Given the description of an element on the screen output the (x, y) to click on. 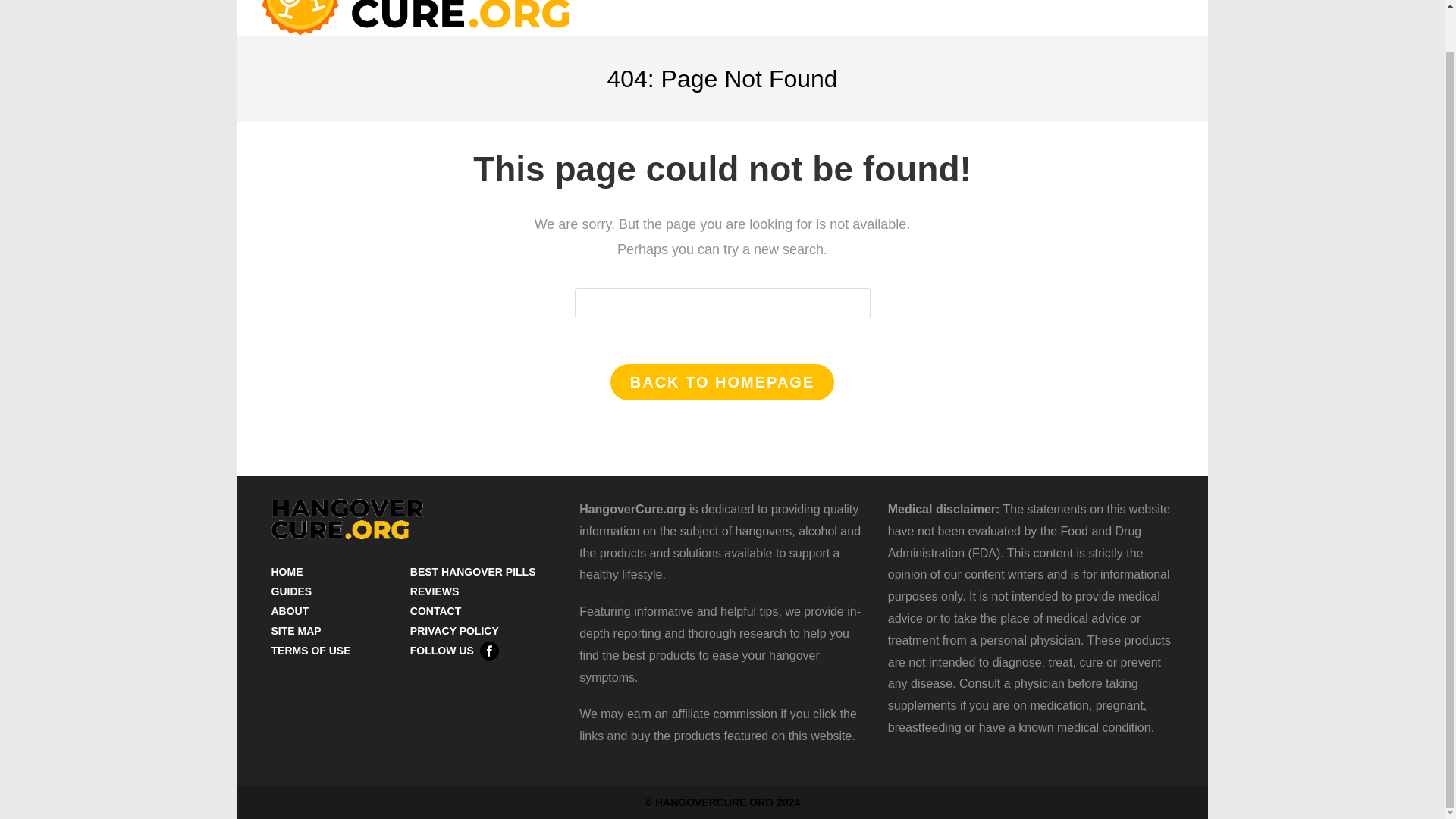
TERMS OF USE (310, 650)
HOME (286, 571)
SITE MAP (295, 630)
CONTACT (435, 611)
GUIDES (291, 591)
BACK TO HOMEPAGE (722, 381)
REVIEWS (435, 591)
ABOUT (289, 611)
BEST HANGOVER PILLS (472, 571)
FOLLOW US (454, 650)
PRIVACY POLICY (454, 630)
